Given the description of an element on the screen output the (x, y) to click on. 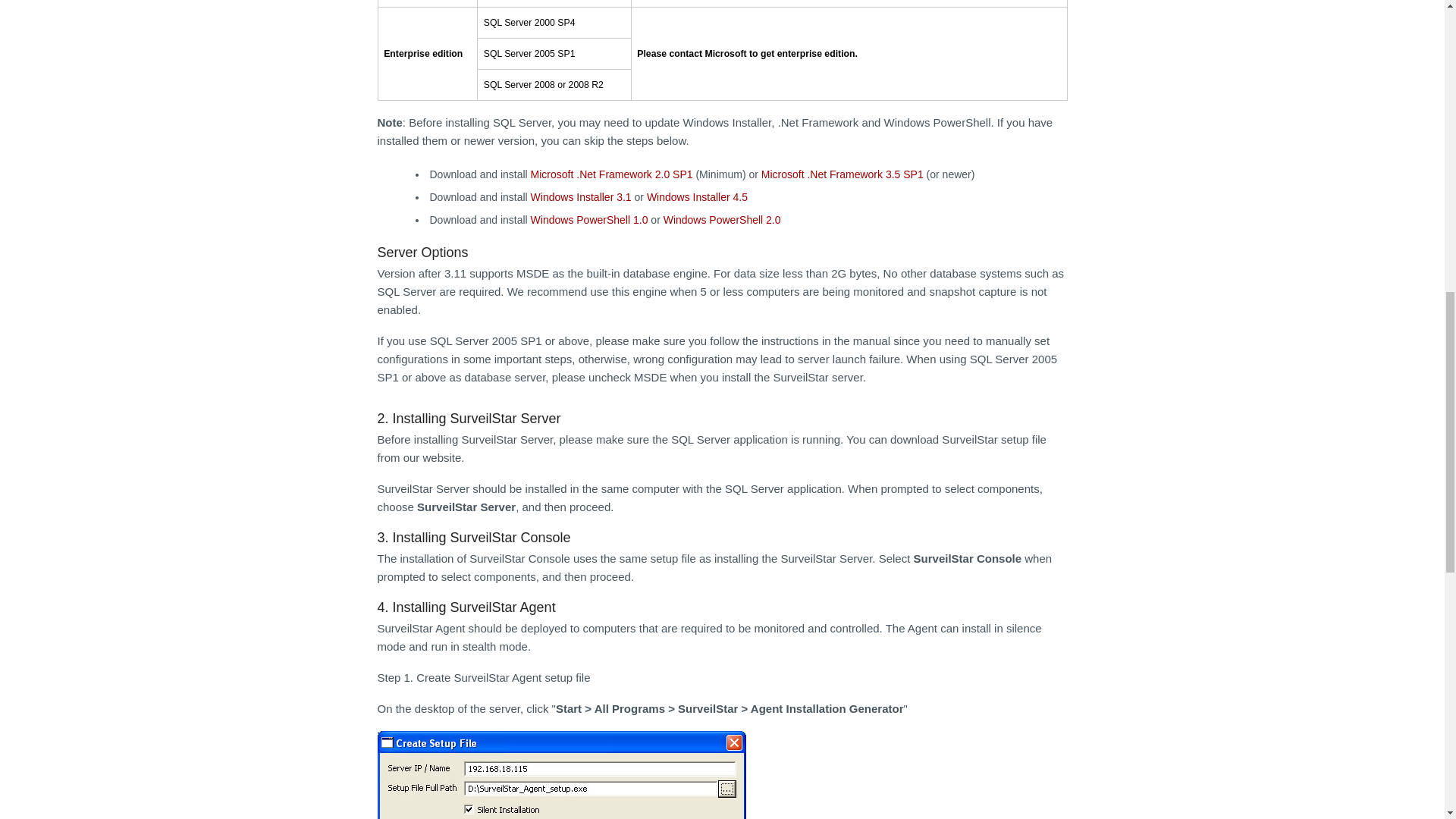
Microsoft .Net Framework 2.0 SP1 (612, 174)
Windows Installer 3.1 (581, 196)
Windows PowerShell 2.0 (721, 219)
Windows PowerShell 1.0 (589, 219)
Microsoft .Net Framework 3.5 SP1 (842, 174)
Windows Installer 4.5 (697, 196)
